Given the description of an element on the screen output the (x, y) to click on. 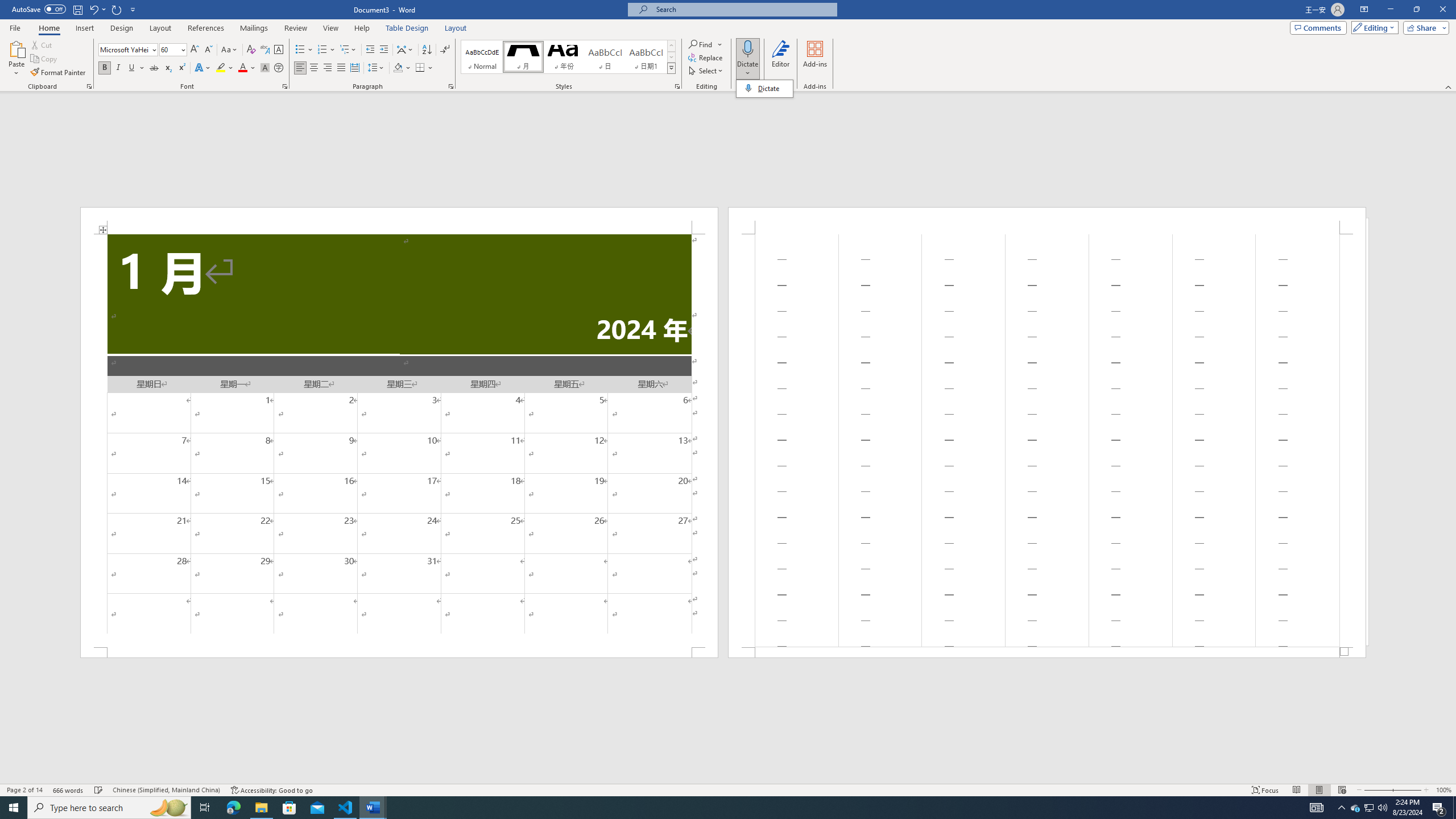
Review (295, 28)
Focus  (1265, 790)
Mode (1372, 27)
Show/Hide Editing Marks (444, 49)
Text Highlight Color Yellow (220, 67)
Mailings (253, 28)
Paste (16, 48)
Minimize (1390, 9)
Language Chinese (Simplified, Mainland China) (165, 790)
Text Highlight Color (224, 67)
Open (182, 49)
Center (313, 67)
